Given the description of an element on the screen output the (x, y) to click on. 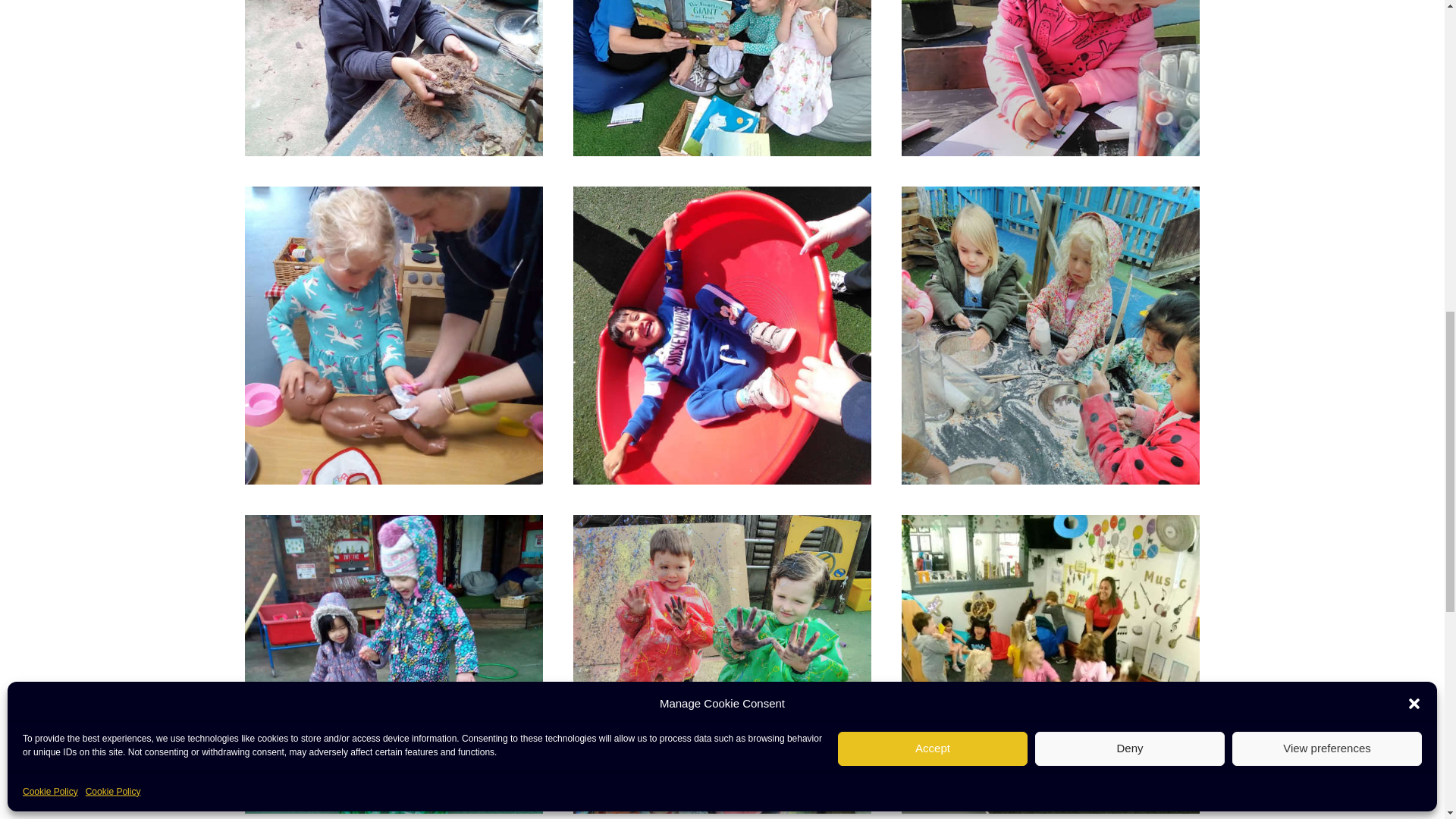
BR-6 (1050, 335)
BR-5 (721, 335)
BR-12 (392, 664)
BR-7 (1050, 78)
BR-11 (721, 664)
BR-10 (1050, 664)
BR-4 (392, 335)
BR-9 (392, 78)
BR-8 (721, 78)
